Given the description of an element on the screen output the (x, y) to click on. 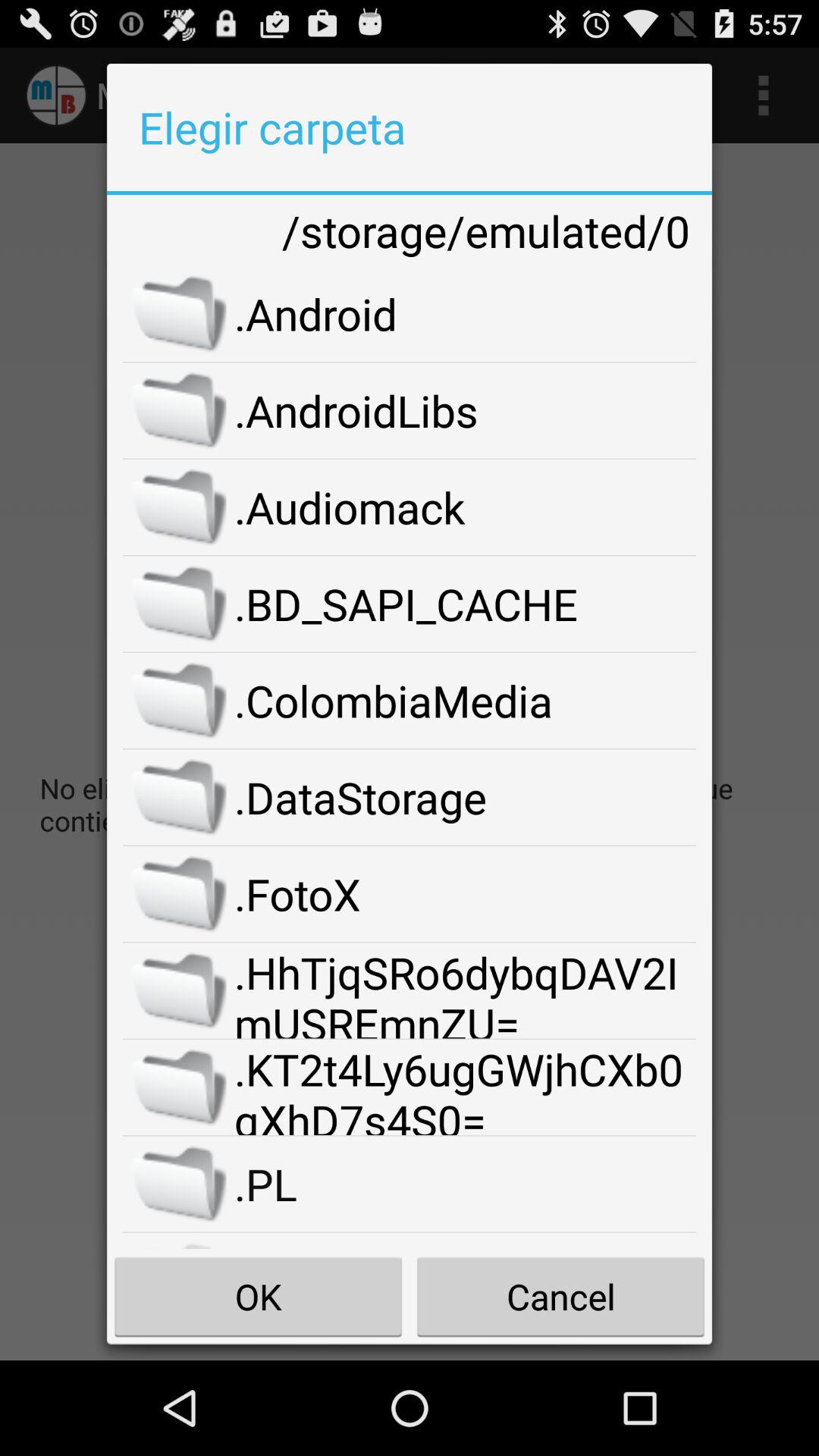
press the icon to the left of cancel button (257, 1296)
